Given the description of an element on the screen output the (x, y) to click on. 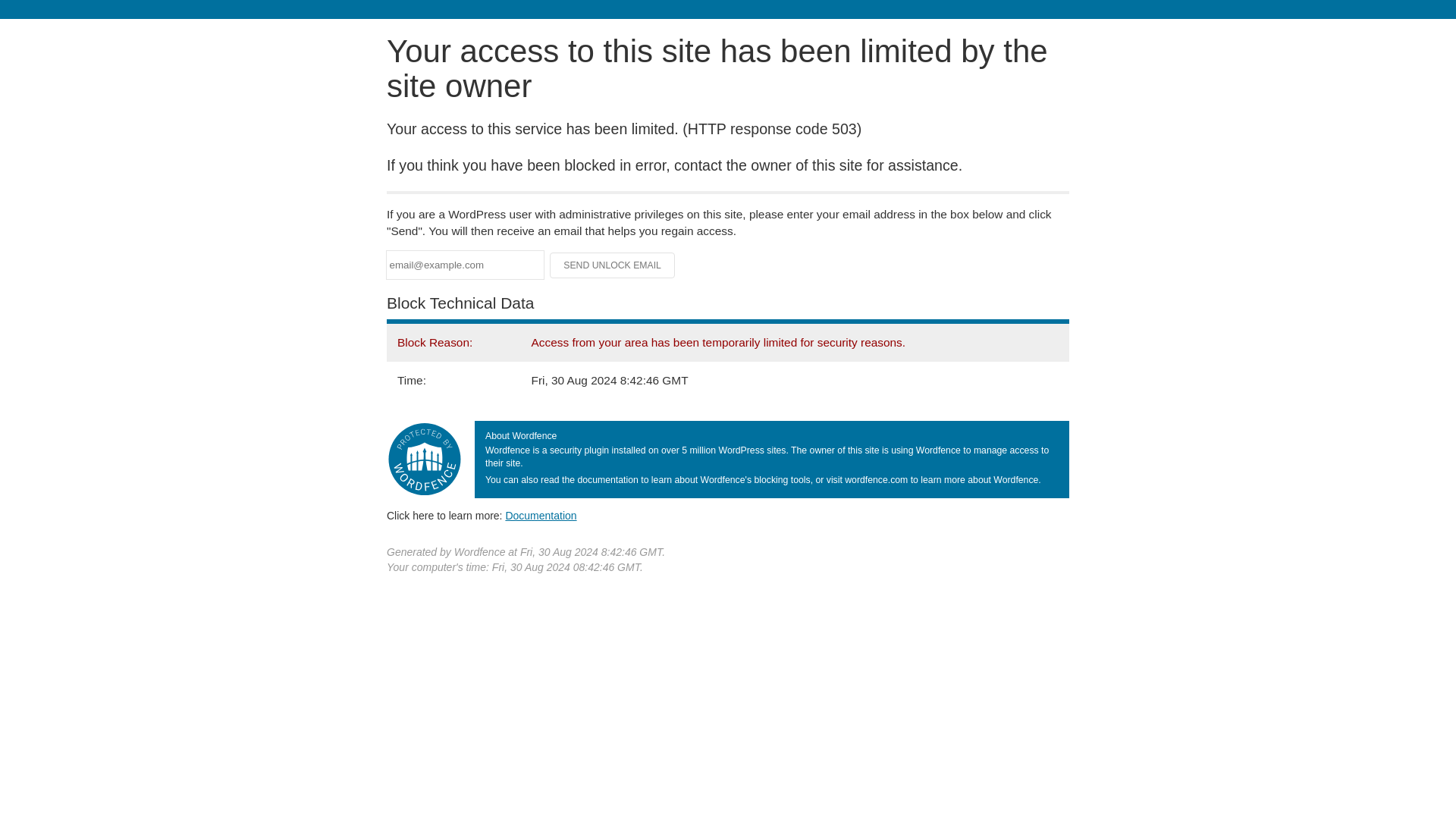
Send Unlock Email (612, 265)
Send Unlock Email (612, 265)
Documentation (540, 515)
